Given the description of an element on the screen output the (x, y) to click on. 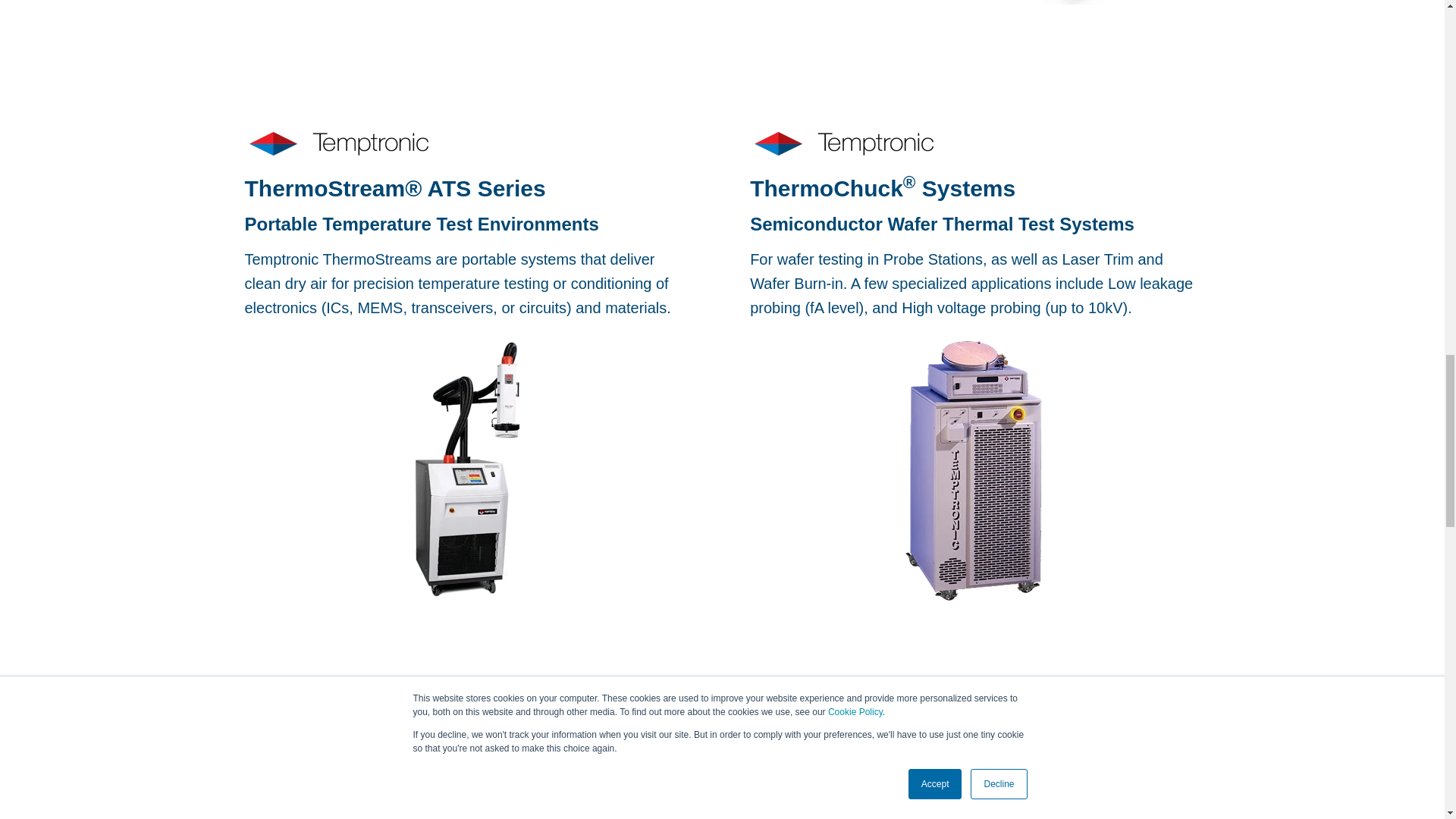
Temptronic  (338, 741)
Temptronic  (843, 142)
Temptronic  (338, 142)
